Given the description of an element on the screen output the (x, y) to click on. 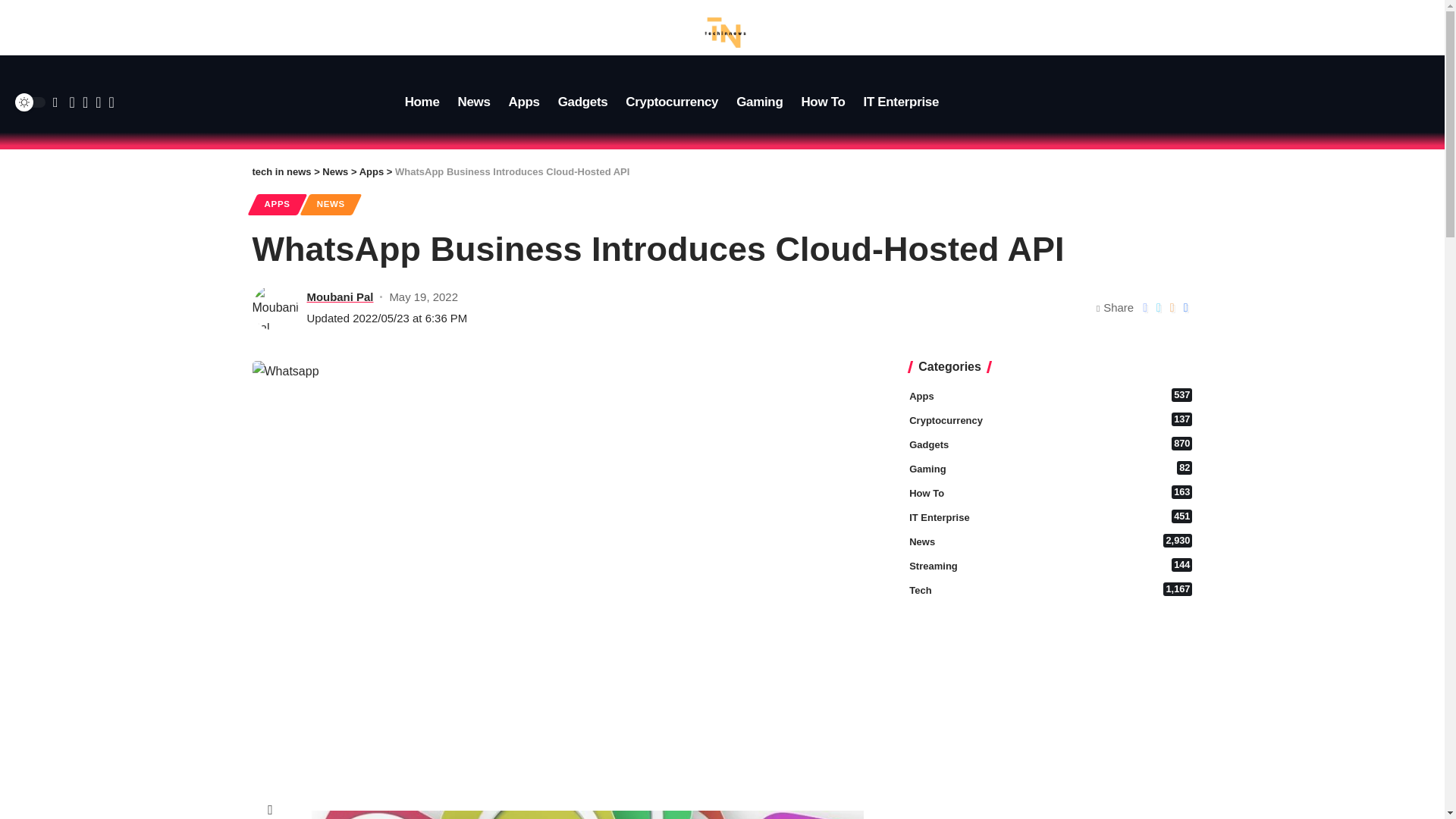
Apps (1050, 398)
Go to tech in news. (523, 101)
Gadgets (281, 171)
tech in news (582, 101)
Cryptocurrency (281, 171)
Go to the News Category archives. (670, 101)
NEWS (334, 171)
News (330, 204)
Gaming (473, 101)
Moubani Pal (759, 101)
Go to the Apps Category archives. (338, 296)
IT Enterprise (371, 171)
Apps (901, 101)
